Given the description of an element on the screen output the (x, y) to click on. 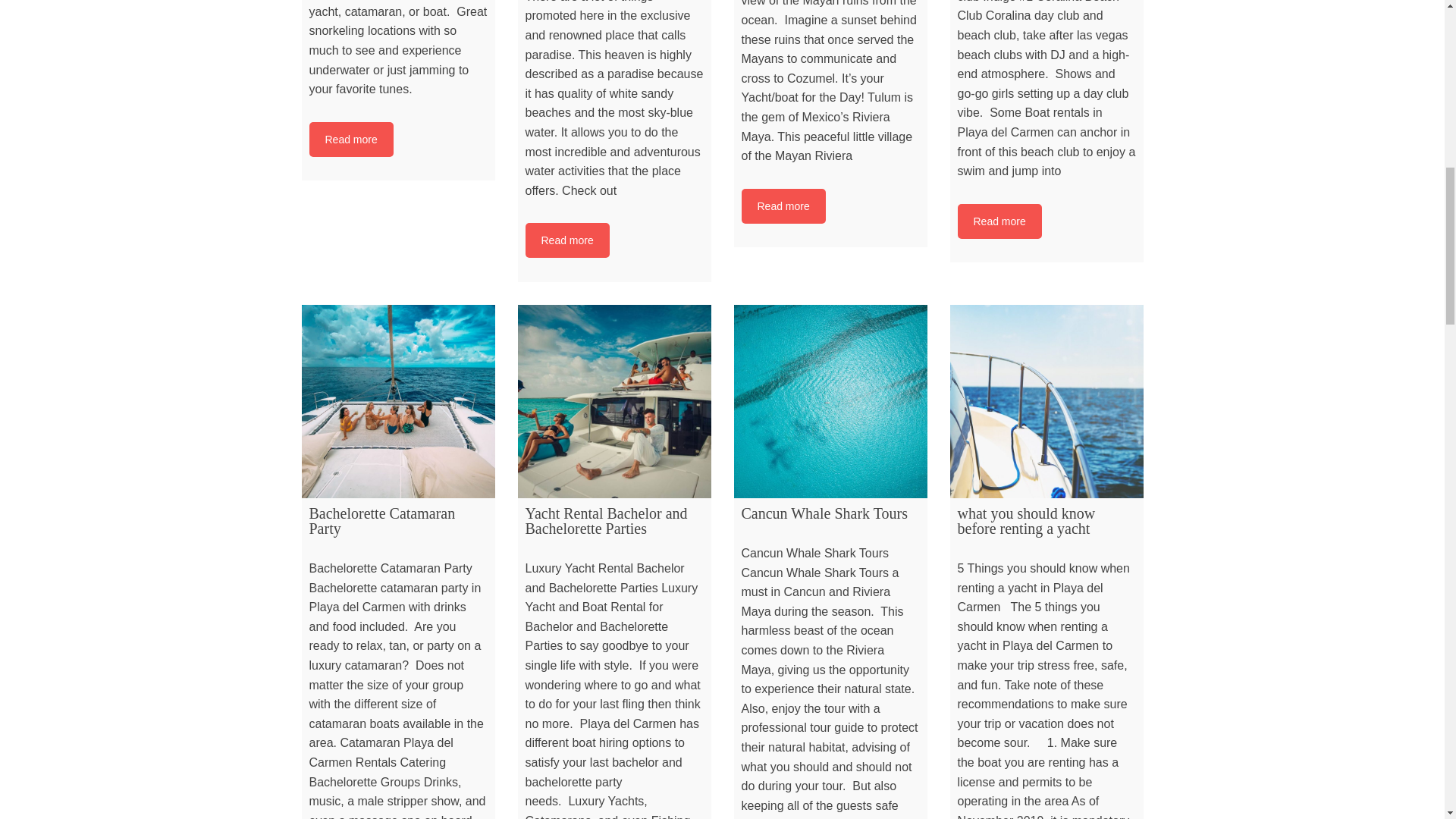
Read more (350, 139)
Yacht Rental Bachelor and Bachelorette Parties (613, 400)
Read more (998, 221)
Read more (350, 139)
Cancun Whale Shark Tours (830, 400)
Read more (783, 206)
Read more (998, 221)
Read more (783, 206)
Read more (566, 239)
Bachelorette Catamaran Party (398, 400)
